Given the description of an element on the screen output the (x, y) to click on. 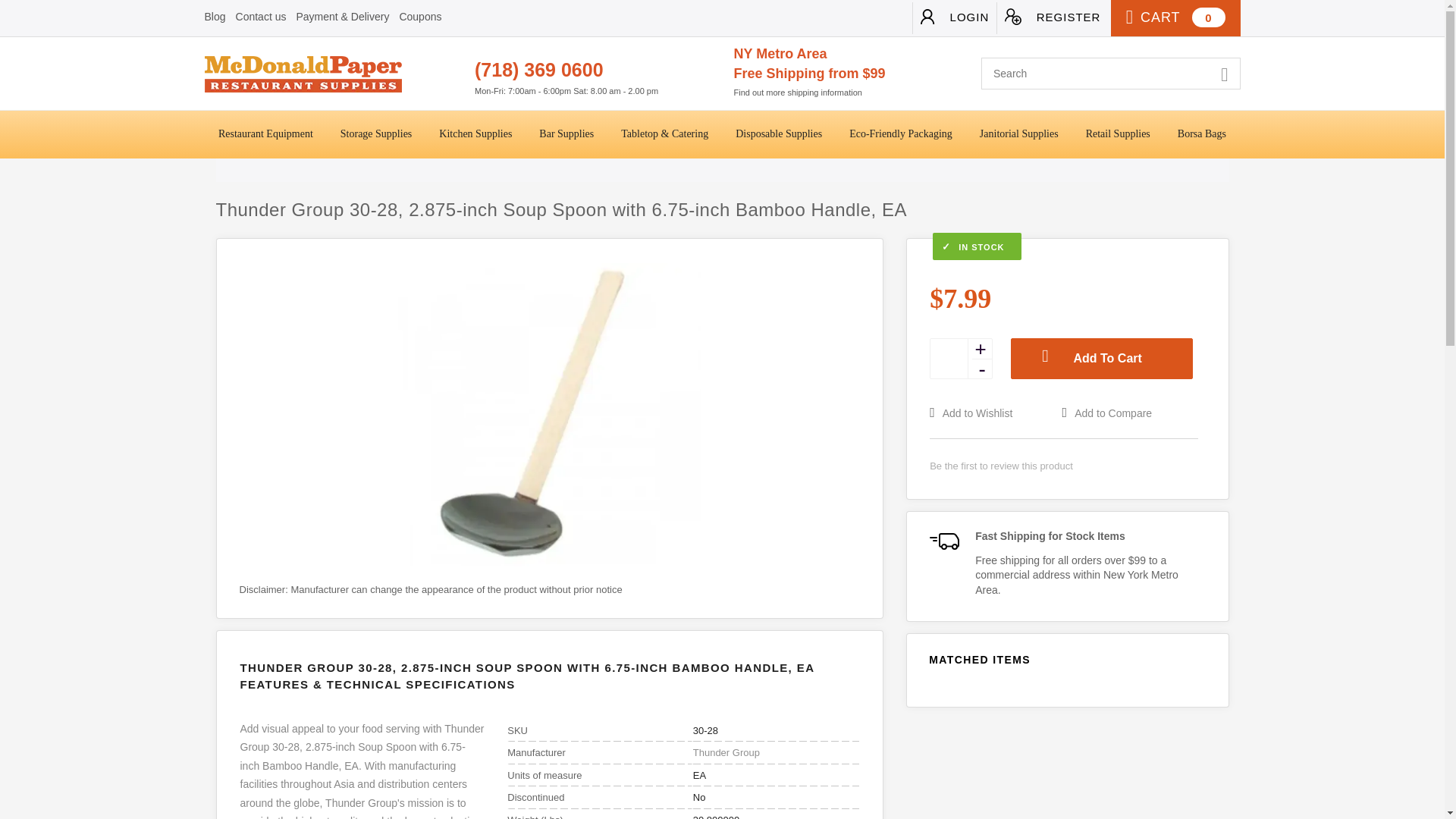
Logo (334, 74)
Add To Cart (1101, 358)
Storage Supplies (376, 134)
Blog (215, 16)
Availability (1063, 246)
Restaurant Equipment (265, 134)
REGISTER (1051, 18)
Contact us (260, 16)
Add to Wish List (994, 412)
LOGIN (953, 18)
